Given the description of an element on the screen output the (x, y) to click on. 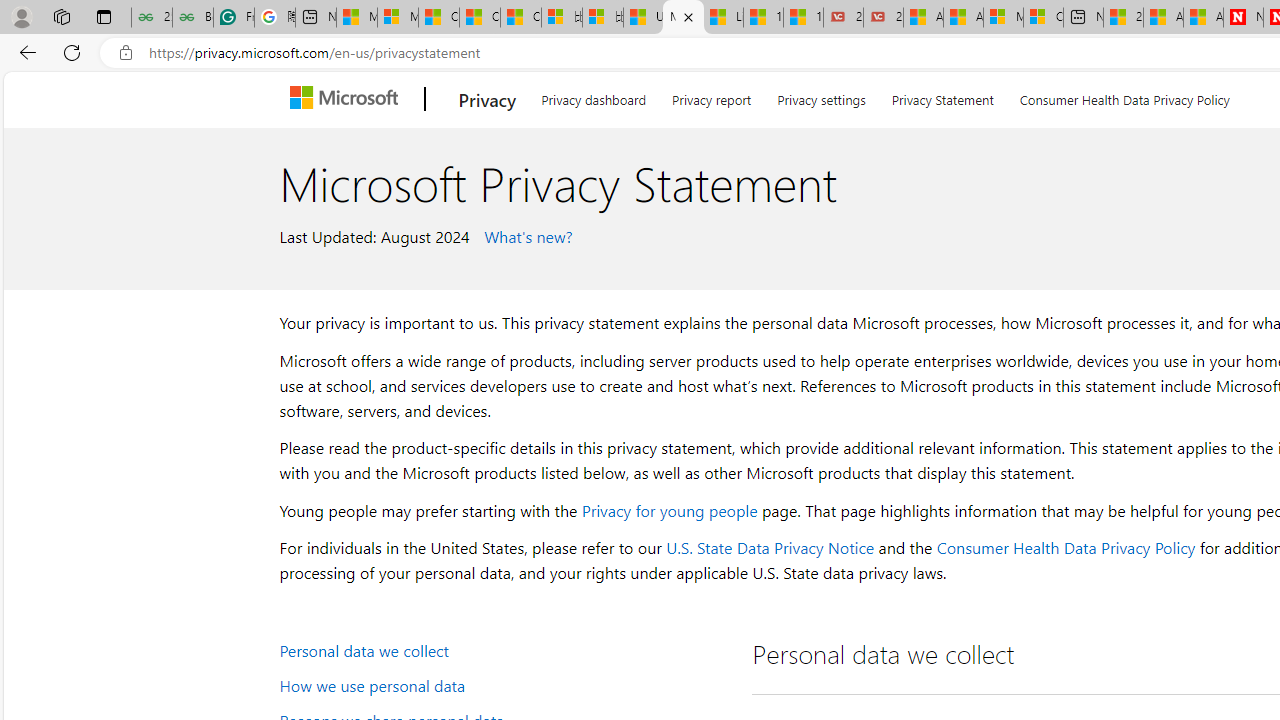
How we use personal data (504, 684)
20 Ways to Boost Your Protein Intake at Every Meal (1123, 17)
 What's new? (525, 235)
Privacy for young people (669, 509)
Privacy Statement (942, 96)
Consumer Health Data Privacy Policy (1065, 547)
Privacy settings (821, 96)
Privacy Statement (942, 96)
Personal data we collect (504, 650)
